Given the description of an element on the screen output the (x, y) to click on. 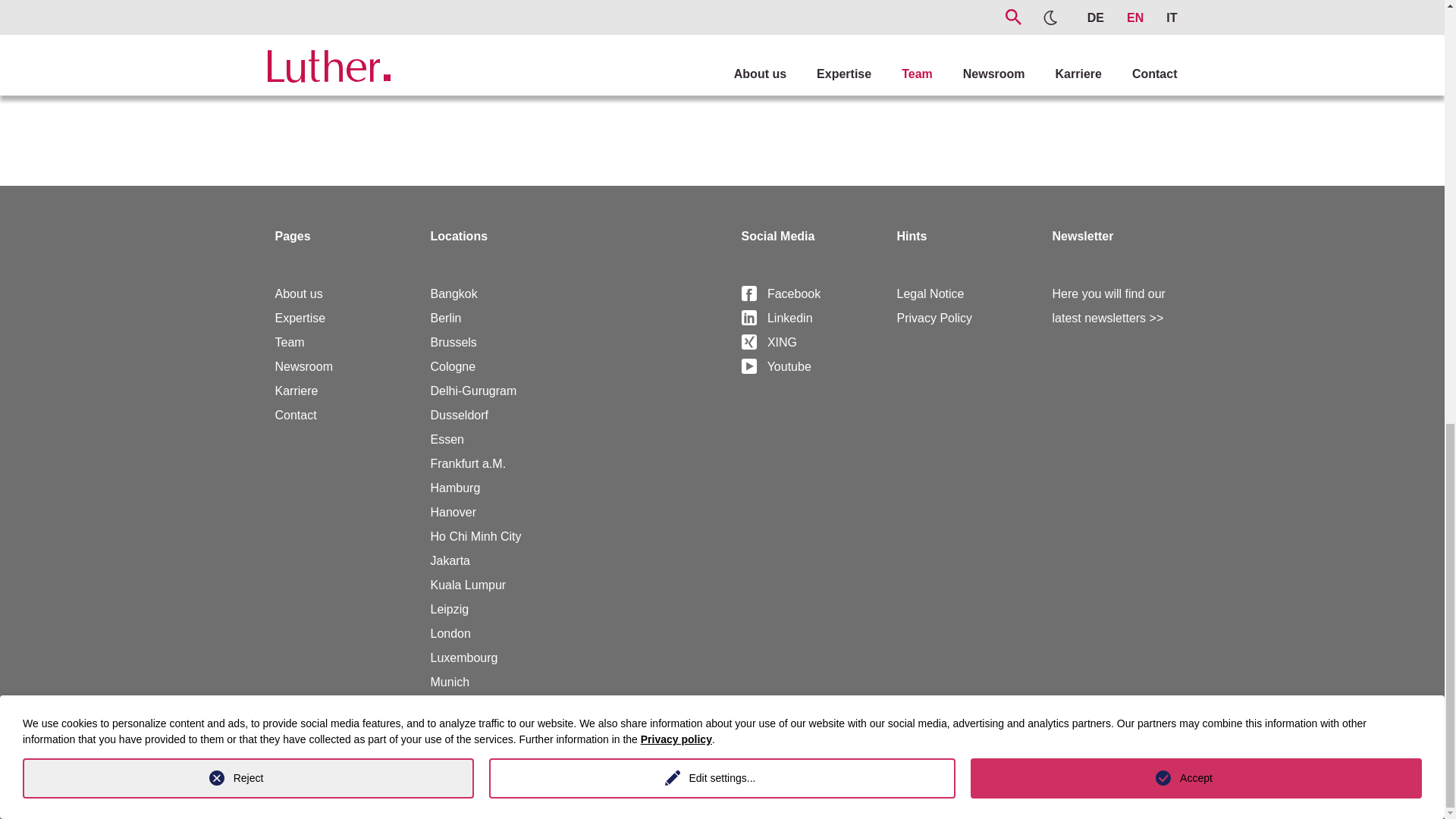
Ho Chi Minh City (475, 535)
Contact (295, 414)
Newsroom (303, 366)
Bangkok (453, 293)
Team (289, 341)
Berlin (445, 318)
About us (298, 293)
Karriere (296, 390)
Hanover (453, 512)
Delhi-Gurugram (473, 390)
Bangkok (453, 293)
Hamburg (455, 487)
Contact (295, 414)
Expertise (299, 318)
Brussels (453, 341)
